Given the description of an element on the screen output the (x, y) to click on. 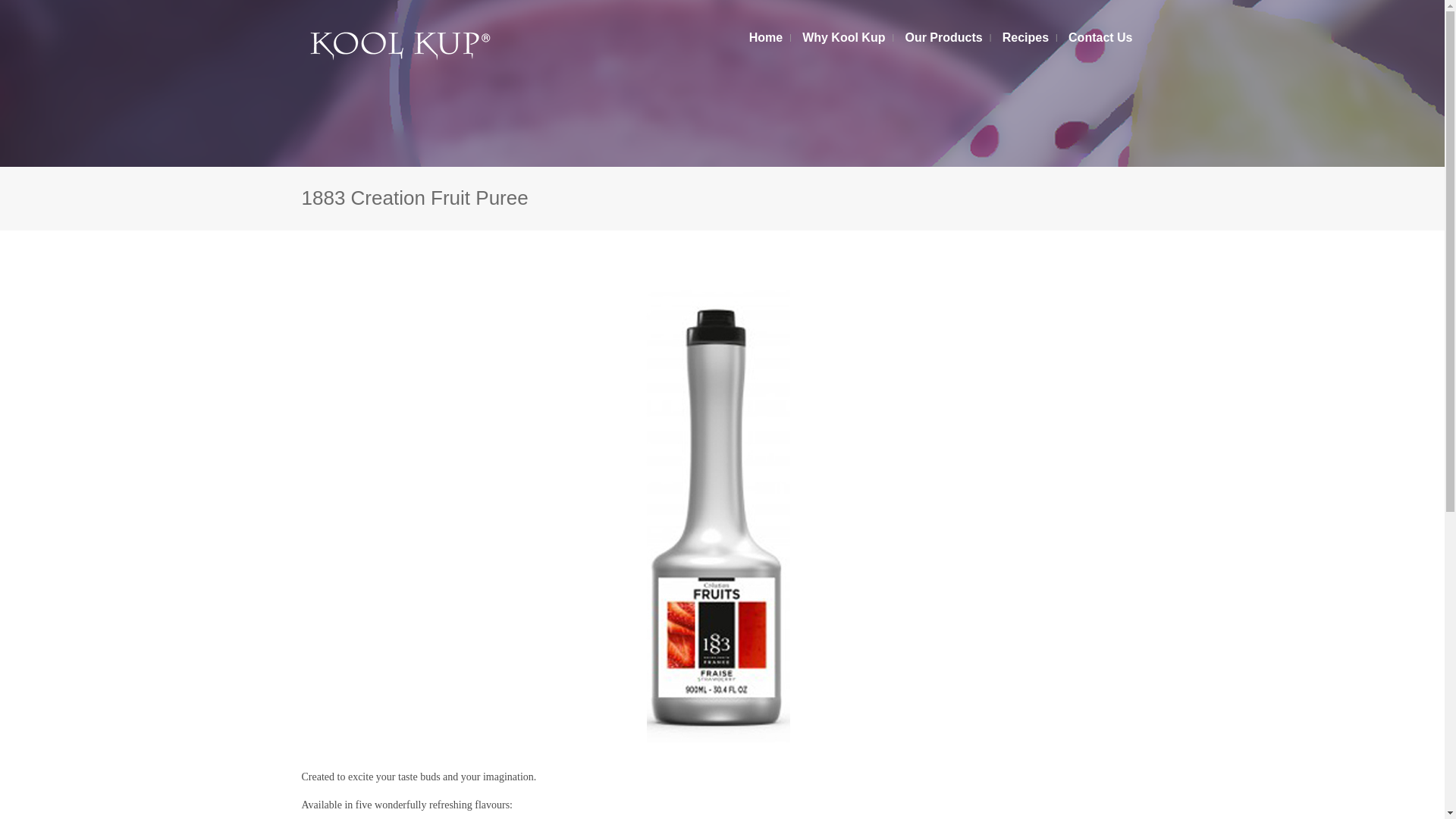
Home (766, 38)
Why Kool Kup (843, 38)
Our Products (942, 38)
Kool Kup (396, 45)
Recipes (1025, 38)
Contact Us (1100, 38)
